Given the description of an element on the screen output the (x, y) to click on. 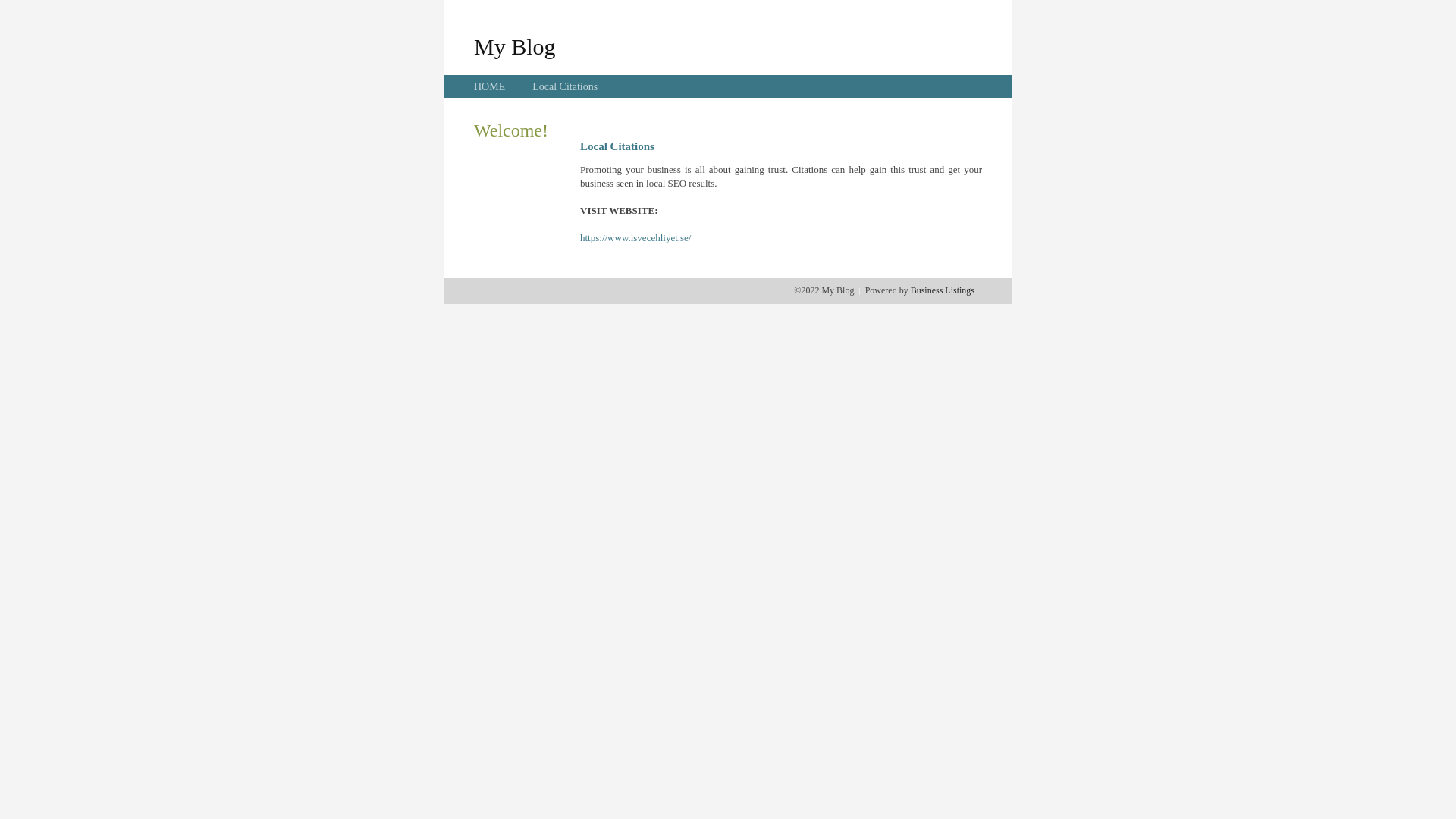
Business Listings Element type: text (942, 290)
https://www.isvecehliyet.se/ Element type: text (635, 237)
HOME Element type: text (489, 86)
Local Citations Element type: text (564, 86)
My Blog Element type: text (514, 46)
